Given the description of an element on the screen output the (x, y) to click on. 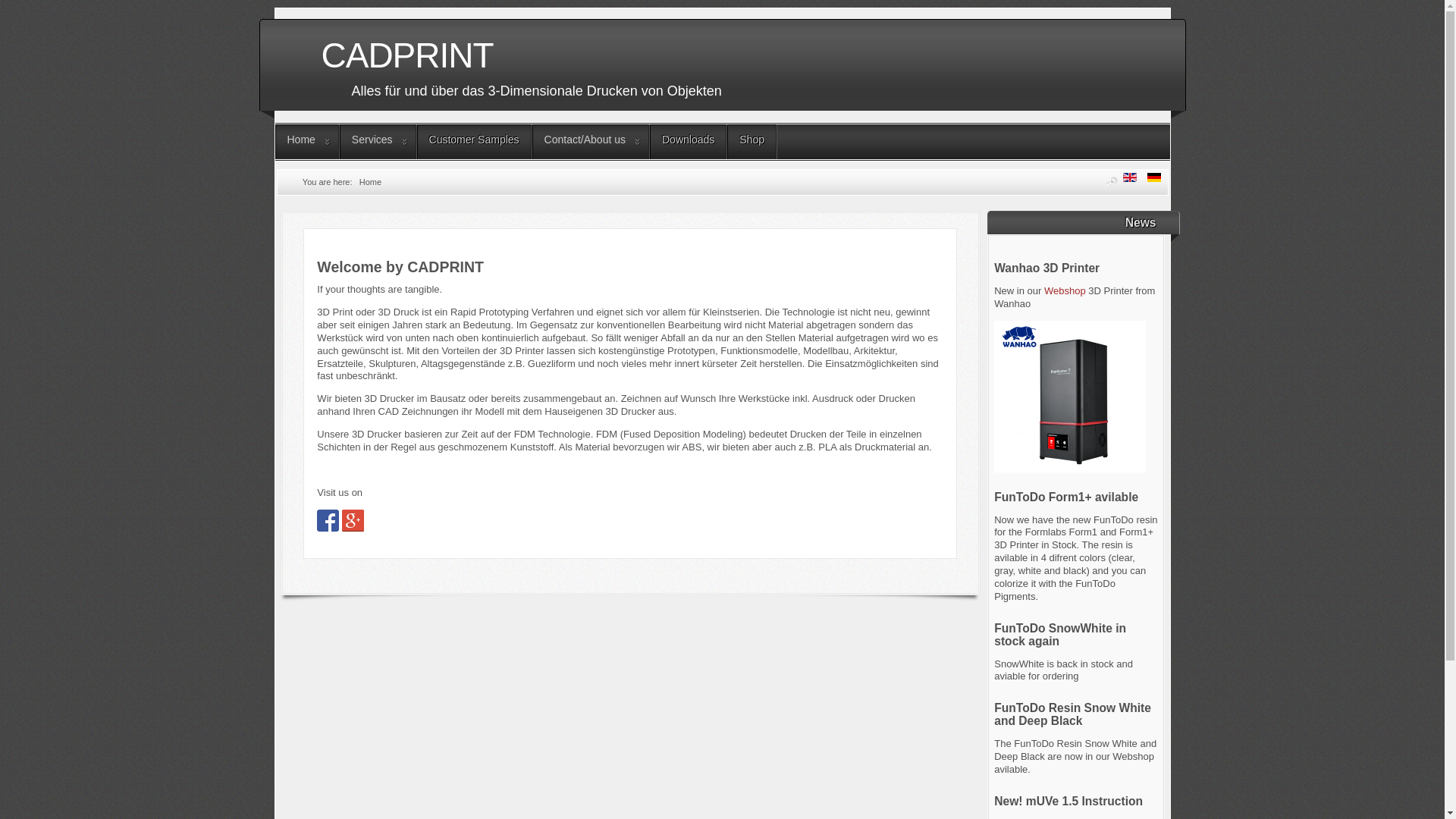
Deutsch Element type: hover (1154, 177)
CADPRINT Element type: text (730, 51)
Webshop Element type: text (1064, 290)
Shop Element type: text (751, 141)
Customer Samples Element type: text (474, 141)
English (UK) Element type: hover (1129, 177)
Downloads Element type: text (687, 141)
